Given the description of an element on the screen output the (x, y) to click on. 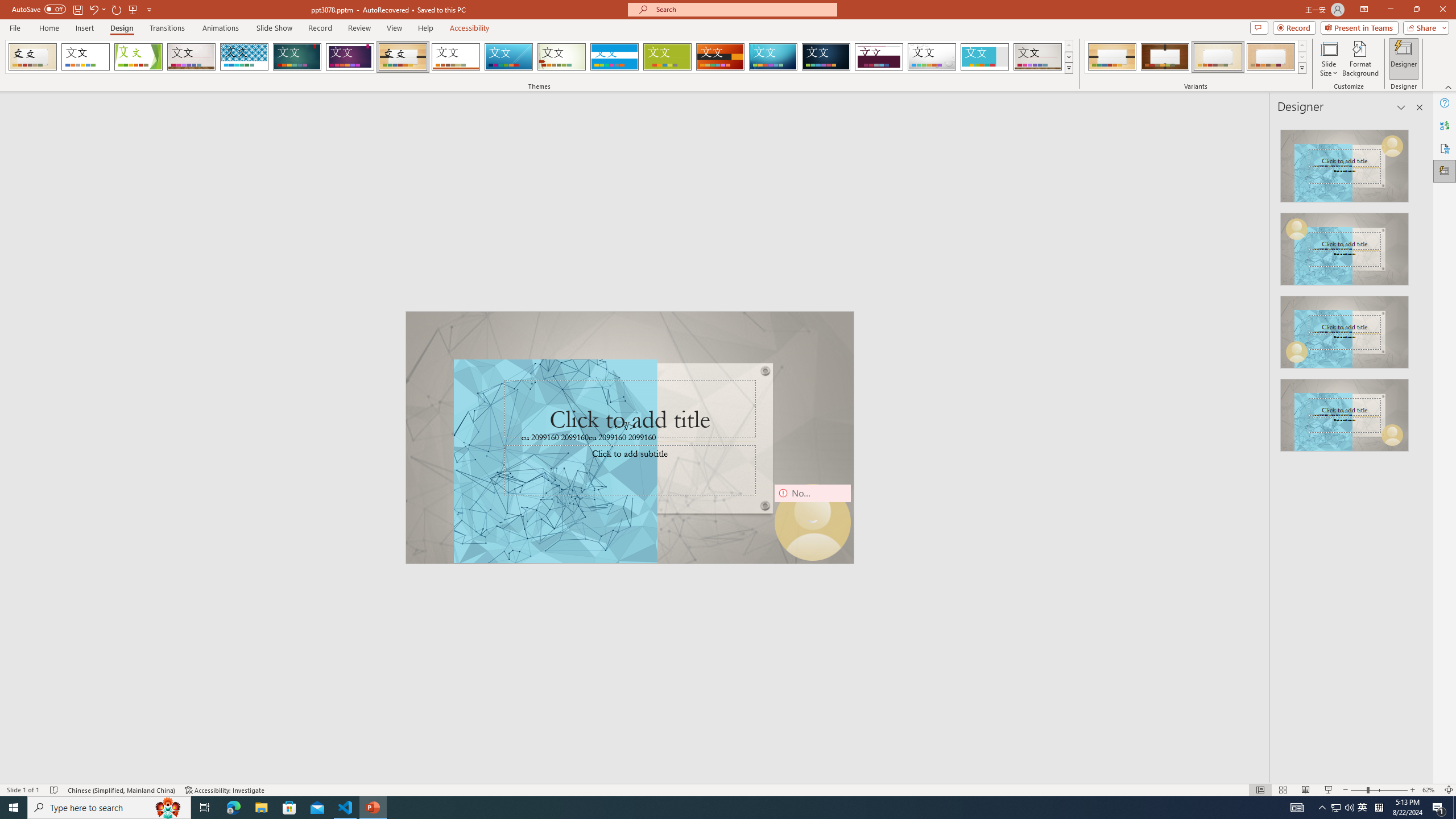
Spaces: 4 (1256, 766)
Close Panel (1427, 533)
Google Chrome (729, 800)
Application Menu (76, 183)
More Actions... (1392, 686)
